Given the description of an element on the screen output the (x, y) to click on. 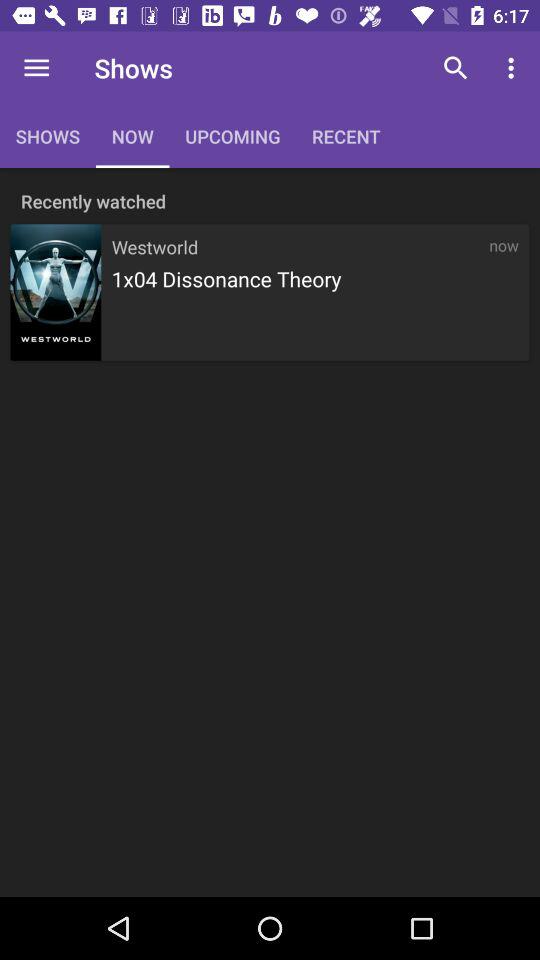
click item next to recent icon (455, 67)
